Given the description of an element on the screen output the (x, y) to click on. 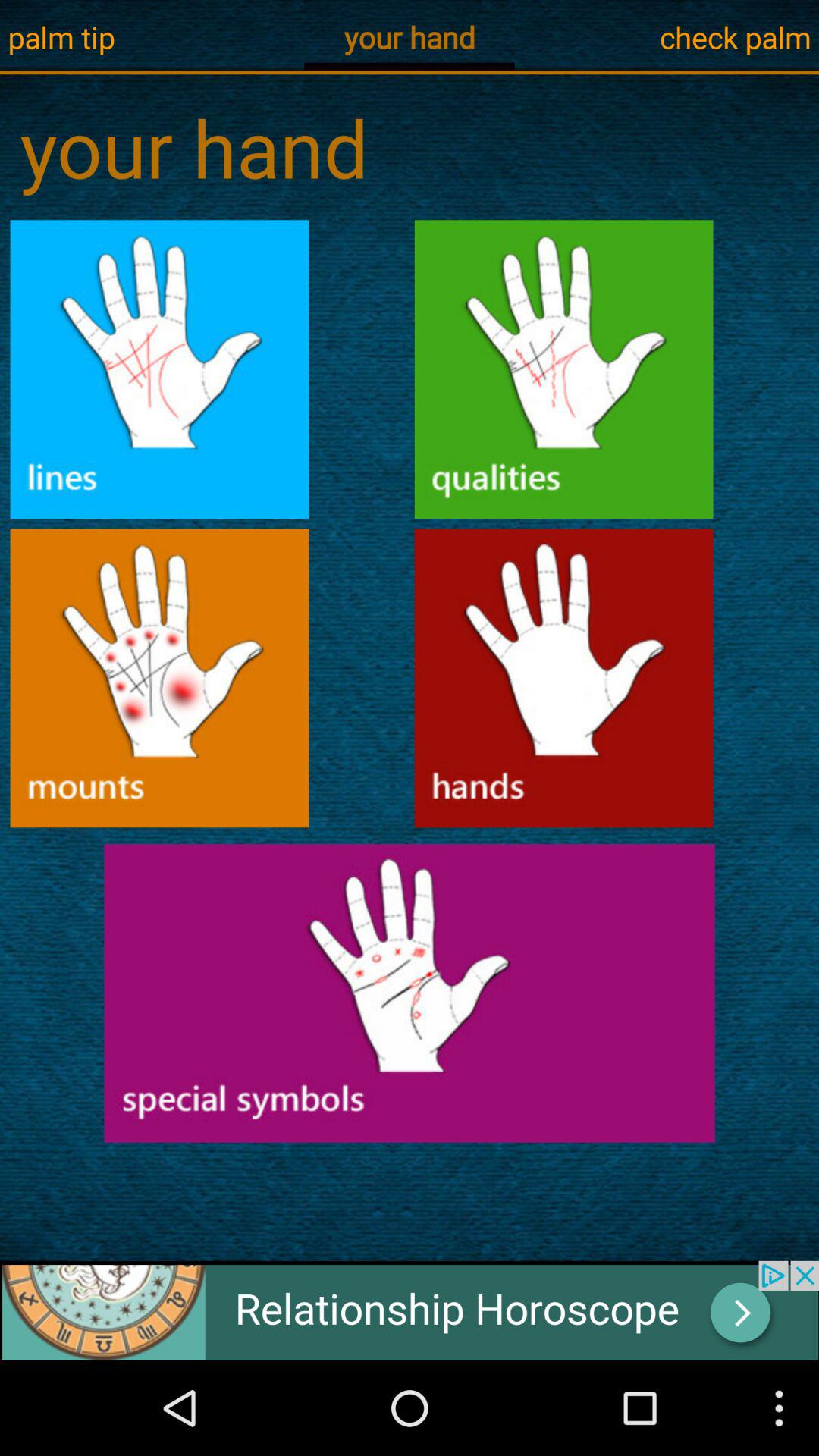
to select the particular option and process it (159, 677)
